Given the description of an element on the screen output the (x, y) to click on. 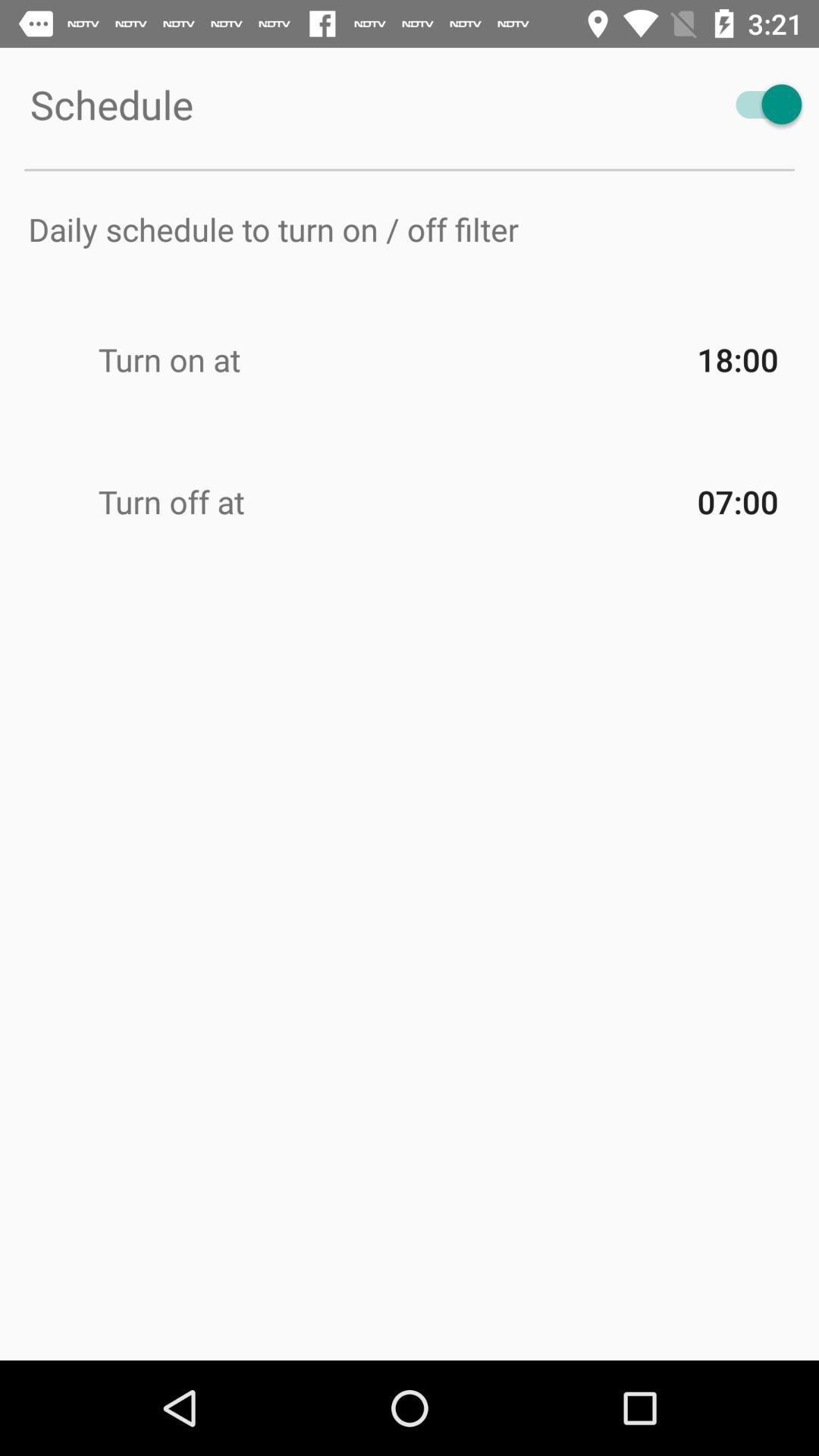
turn off item to the right of schedule (761, 104)
